Given the description of an element on the screen output the (x, y) to click on. 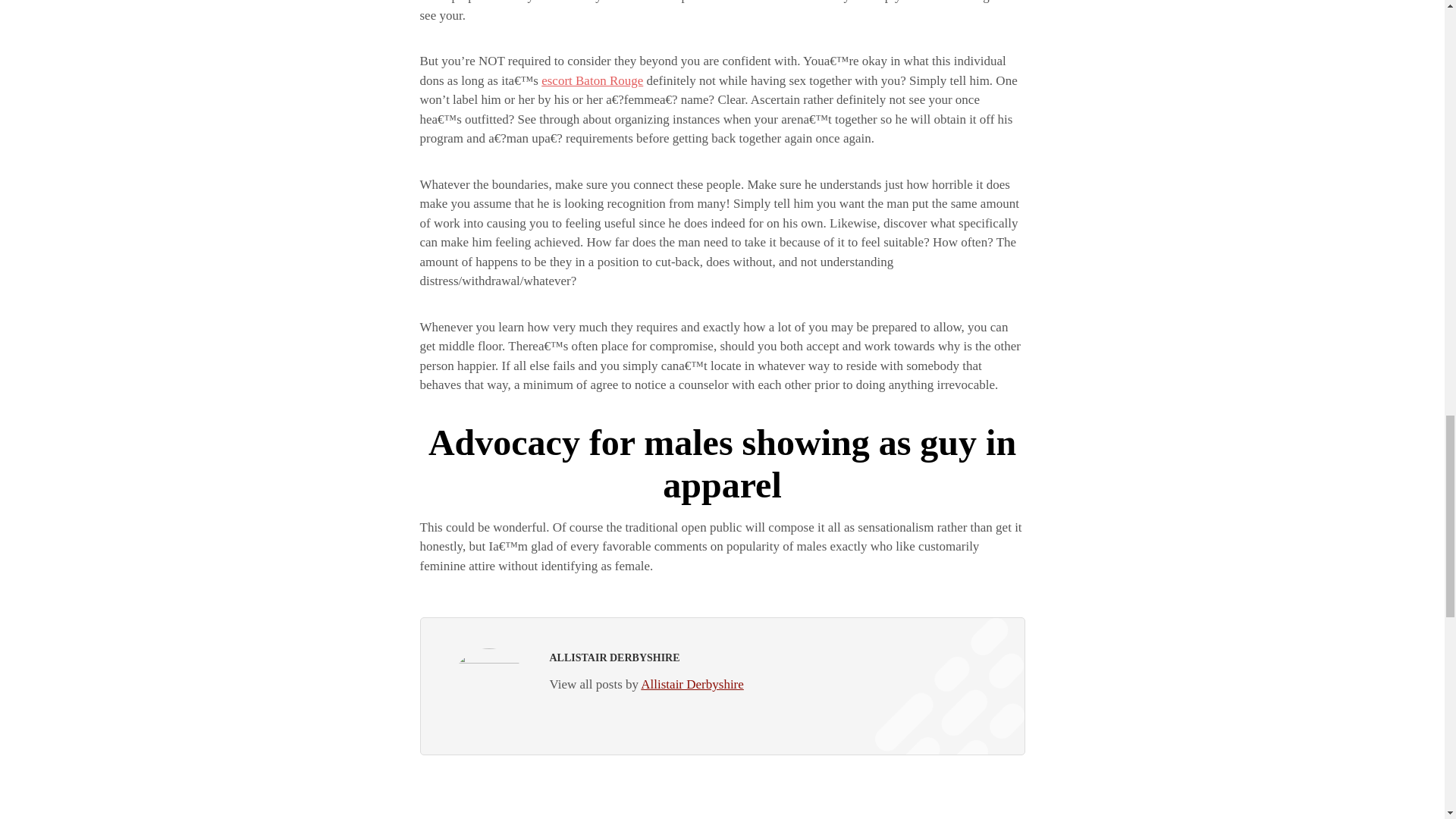
escort Baton Rouge (592, 79)
View all posts by Allistair Derbyshire (645, 684)
